Given the description of an element on the screen output the (x, y) to click on. 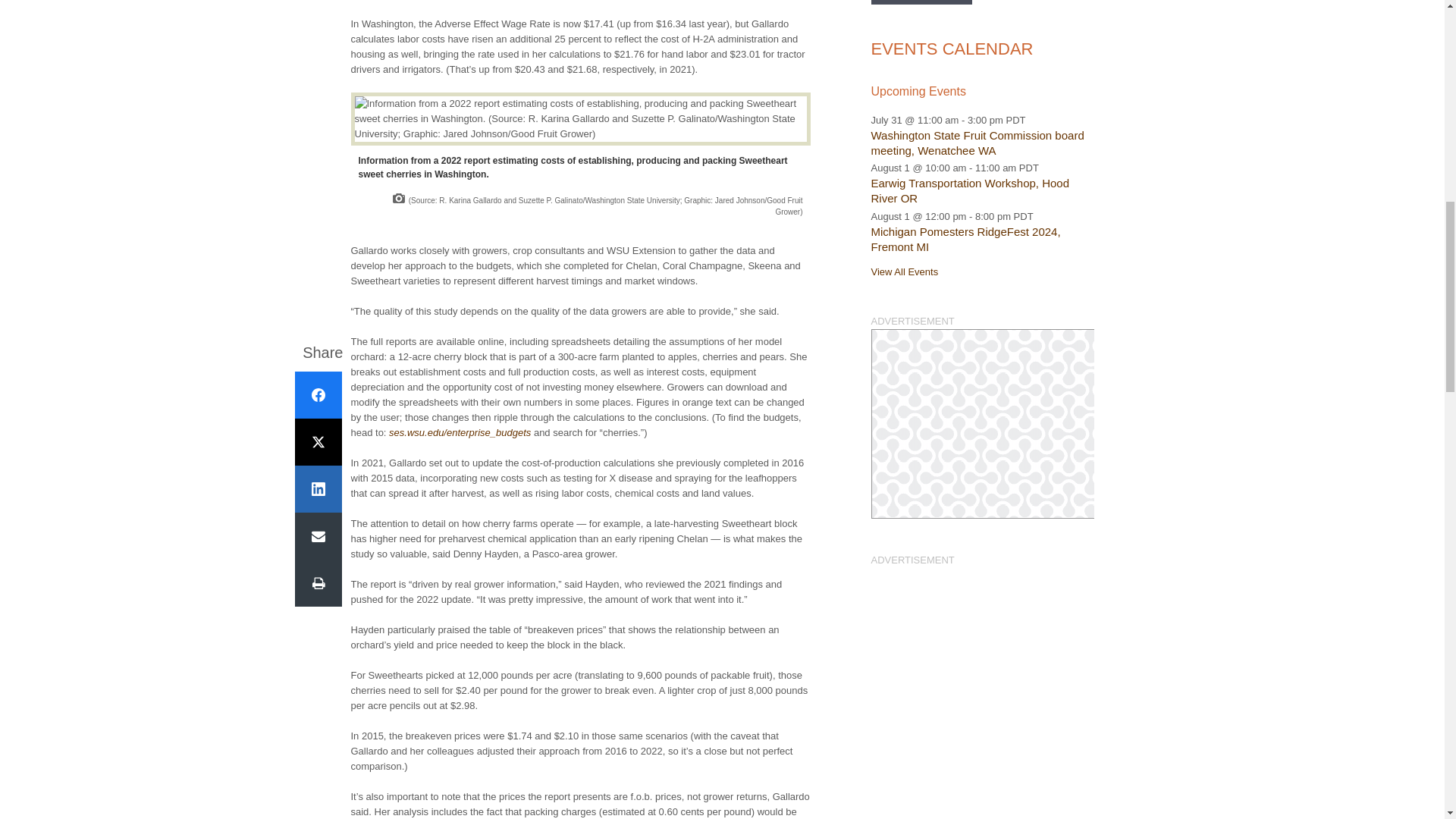
3rd party ad content (981, 423)
